Given the description of an element on the screen output the (x, y) to click on. 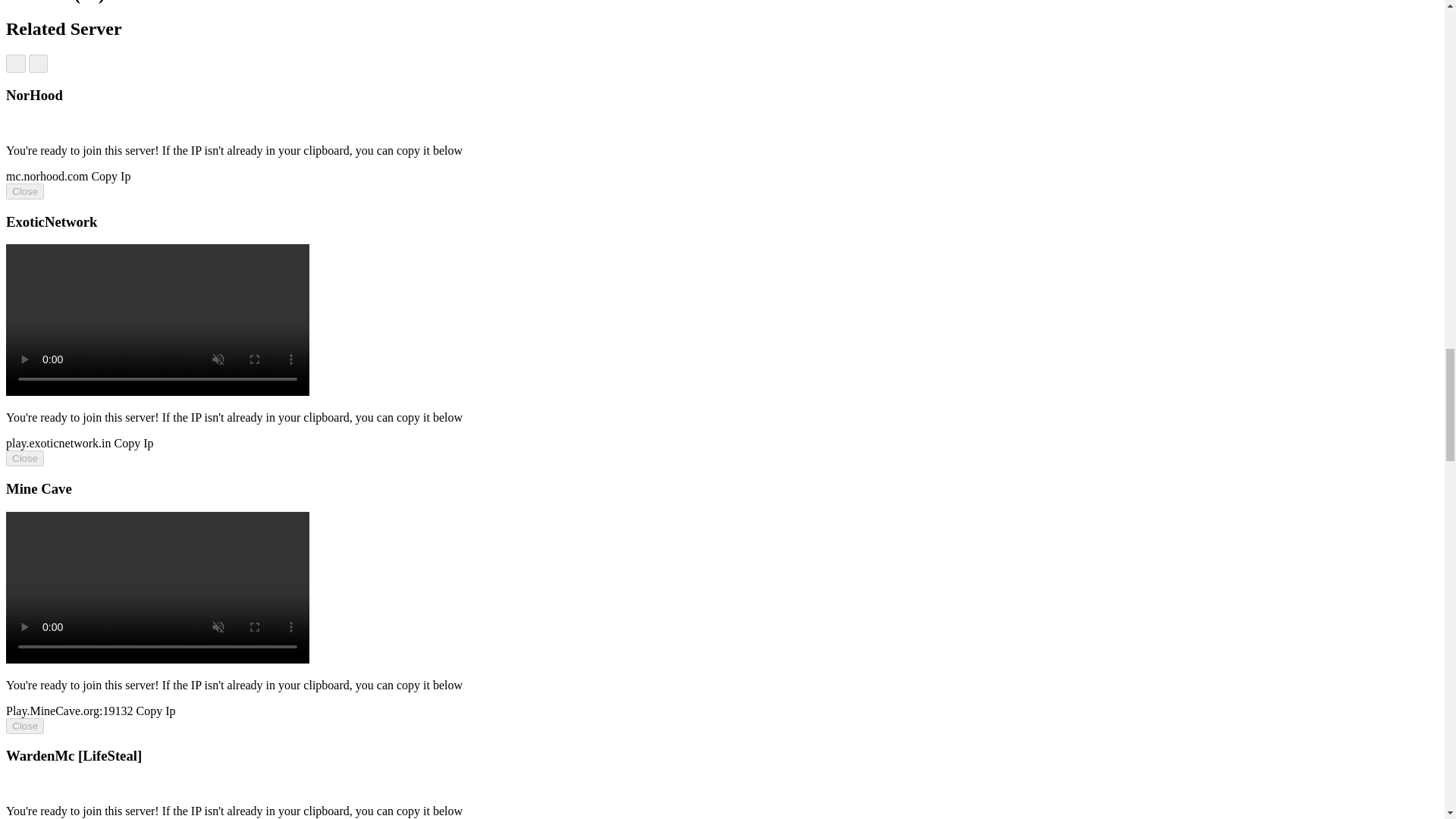
Close (24, 191)
Previous (15, 63)
Your browser does not support the video tag. (156, 391)
Next (38, 63)
Close (24, 458)
